Given the description of an element on the screen output the (x, y) to click on. 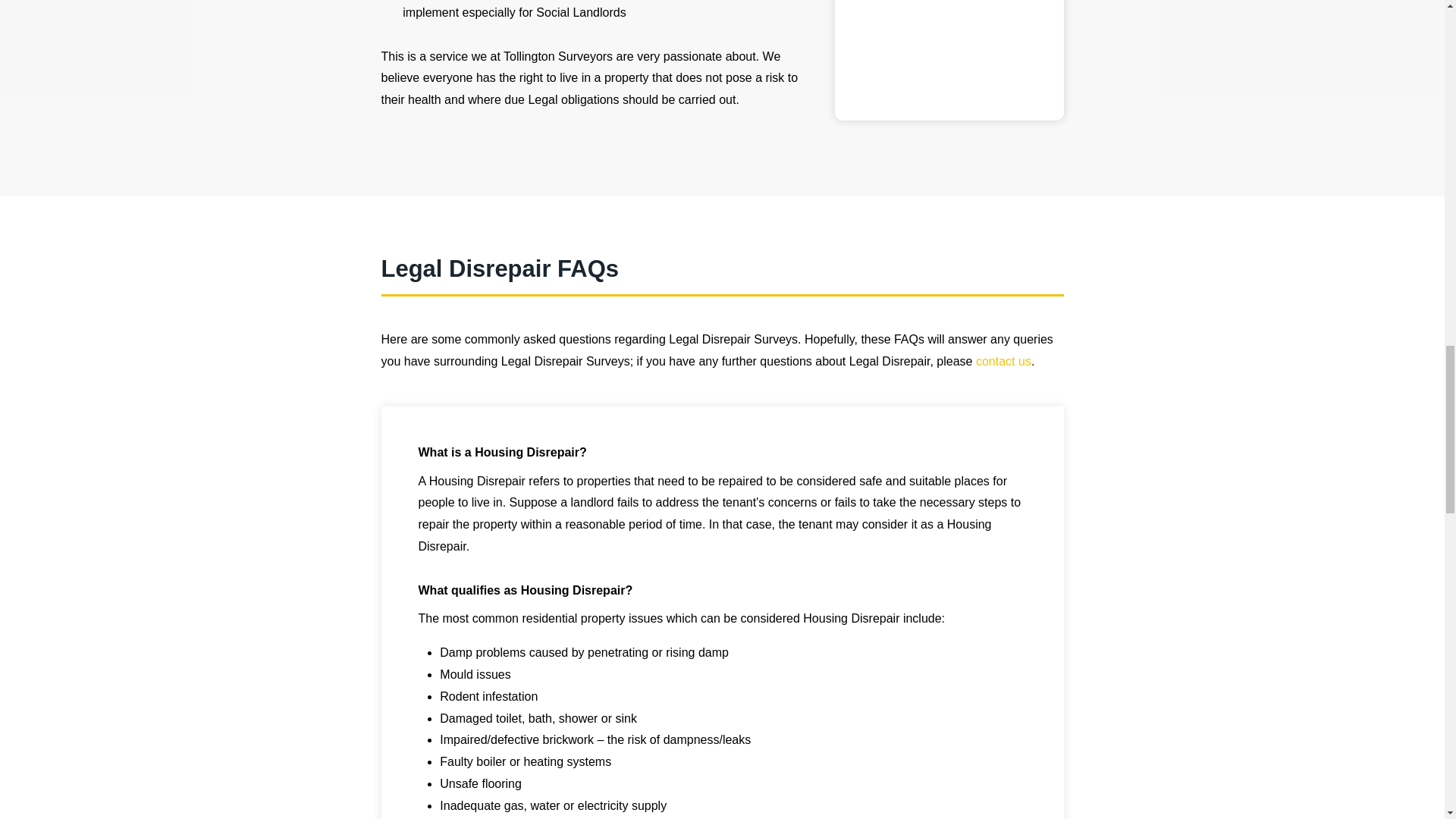
contact us (1002, 360)
